Given the description of an element on the screen output the (x, y) to click on. 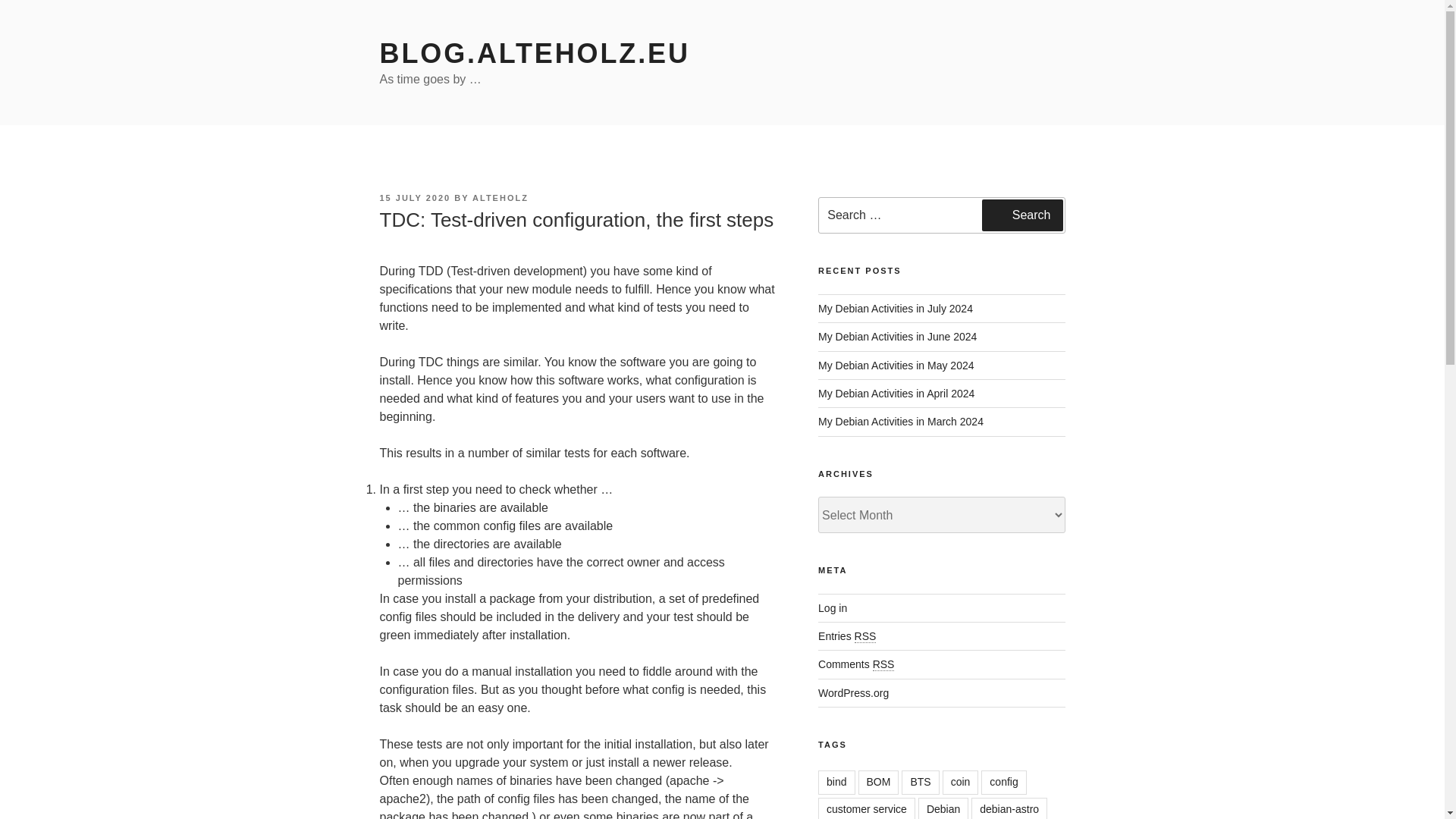
My Debian Activities in May 2024 (896, 365)
BOM (879, 782)
bind (836, 782)
WordPress.org (853, 693)
Really Simple Syndication (865, 635)
15 JULY 2020 (413, 197)
Search (1021, 214)
BLOG.ALTEHOLZ.EU (533, 52)
Debian (943, 808)
